Given the description of an element on the screen output the (x, y) to click on. 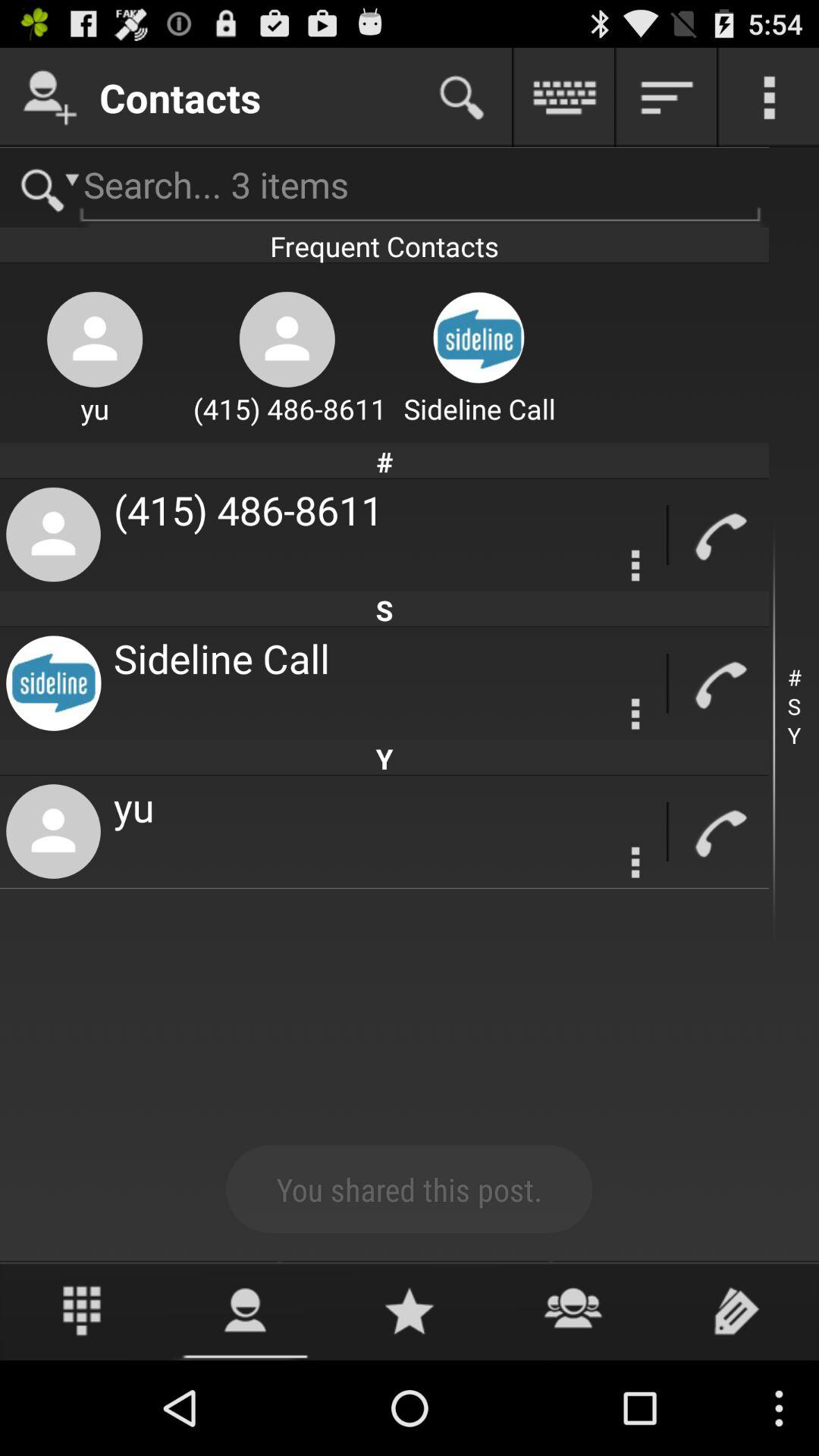
go to profile (49, 97)
